Given the description of an element on the screen output the (x, y) to click on. 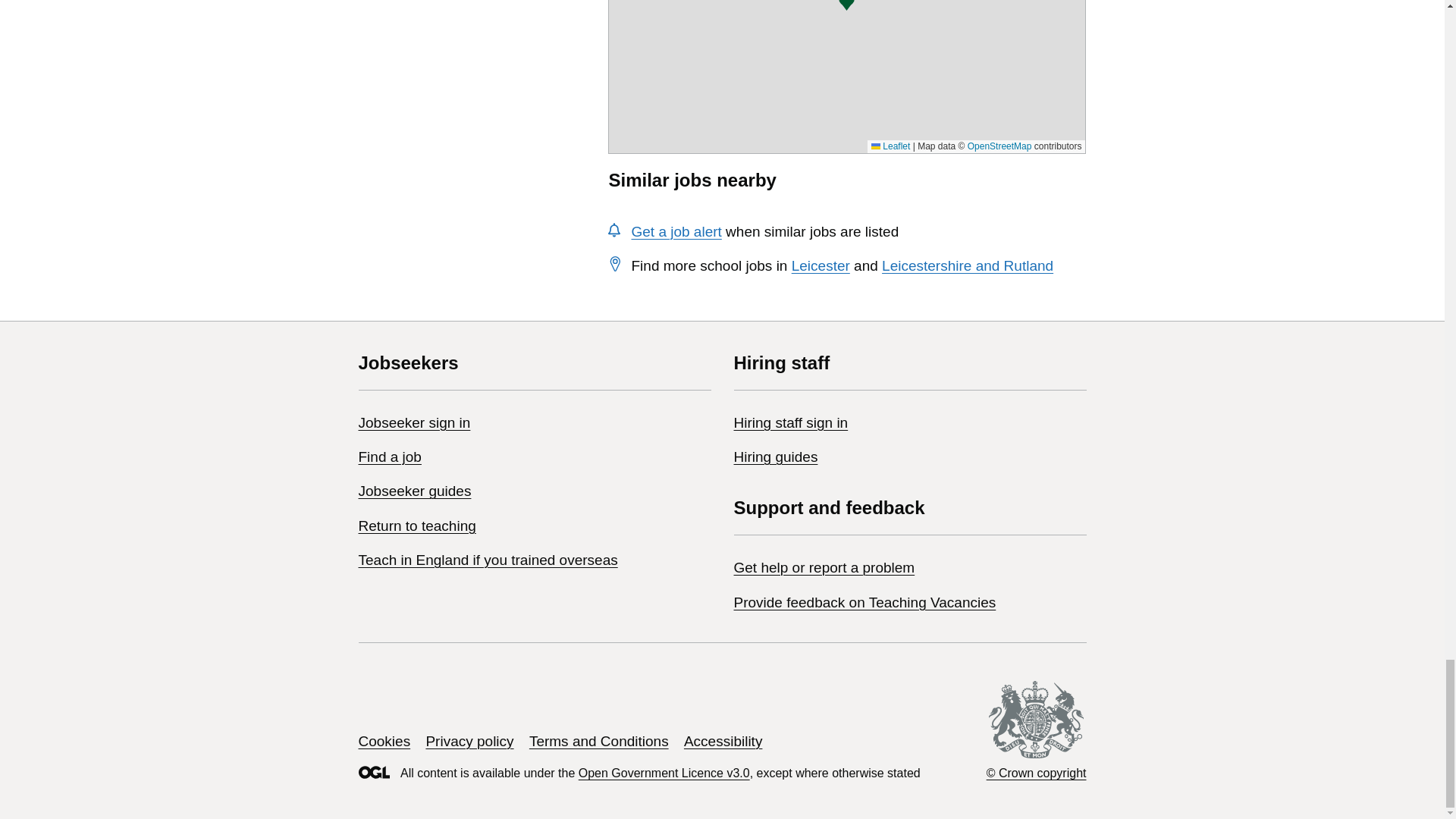
Leicestershire and Rutland (967, 265)
Hiring staff sign in (790, 422)
A JavaScript library for interactive maps (890, 145)
Jobseeker guides (414, 490)
Hiring guides (775, 456)
Get a job alert (675, 231)
Vacancy location (847, 6)
Leicester (821, 265)
Teach in England if you trained overseas (487, 560)
Find a job (389, 456)
